Given the description of an element on the screen output the (x, y) to click on. 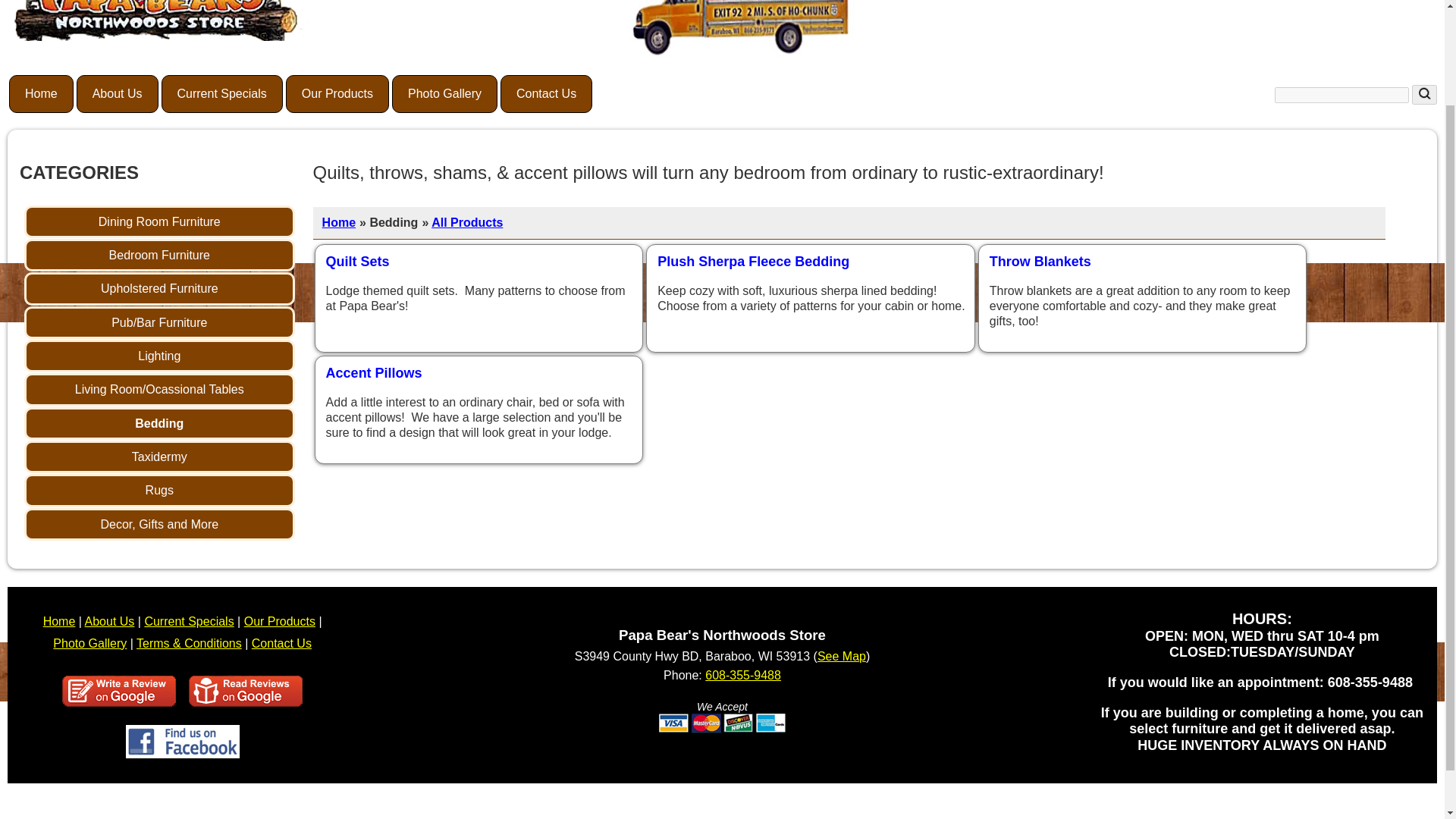
Bedroom Furniture (159, 255)
Dining Room Furniture (159, 221)
Home (41, 94)
About Us (117, 94)
Bedding (159, 423)
Photo Gallery (444, 94)
Taxidermy (159, 456)
Upholstered Furniture (159, 287)
Rugs (159, 490)
Lighting (159, 355)
